Given the description of an element on the screen output the (x, y) to click on. 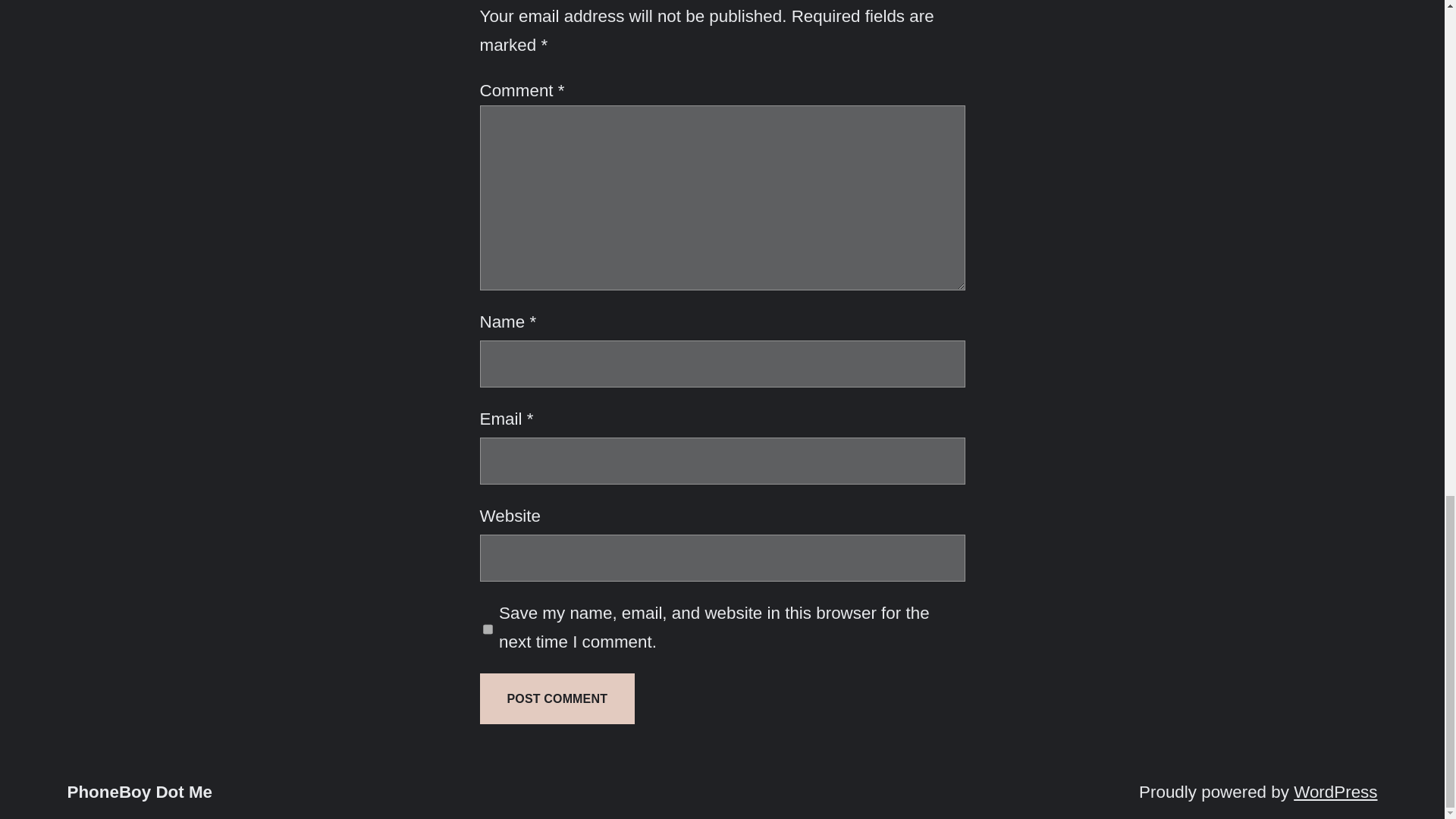
WordPress (1335, 791)
Post Comment (556, 698)
PhoneBoy Dot Me (139, 791)
Post Comment (556, 698)
